Given the description of an element on the screen output the (x, y) to click on. 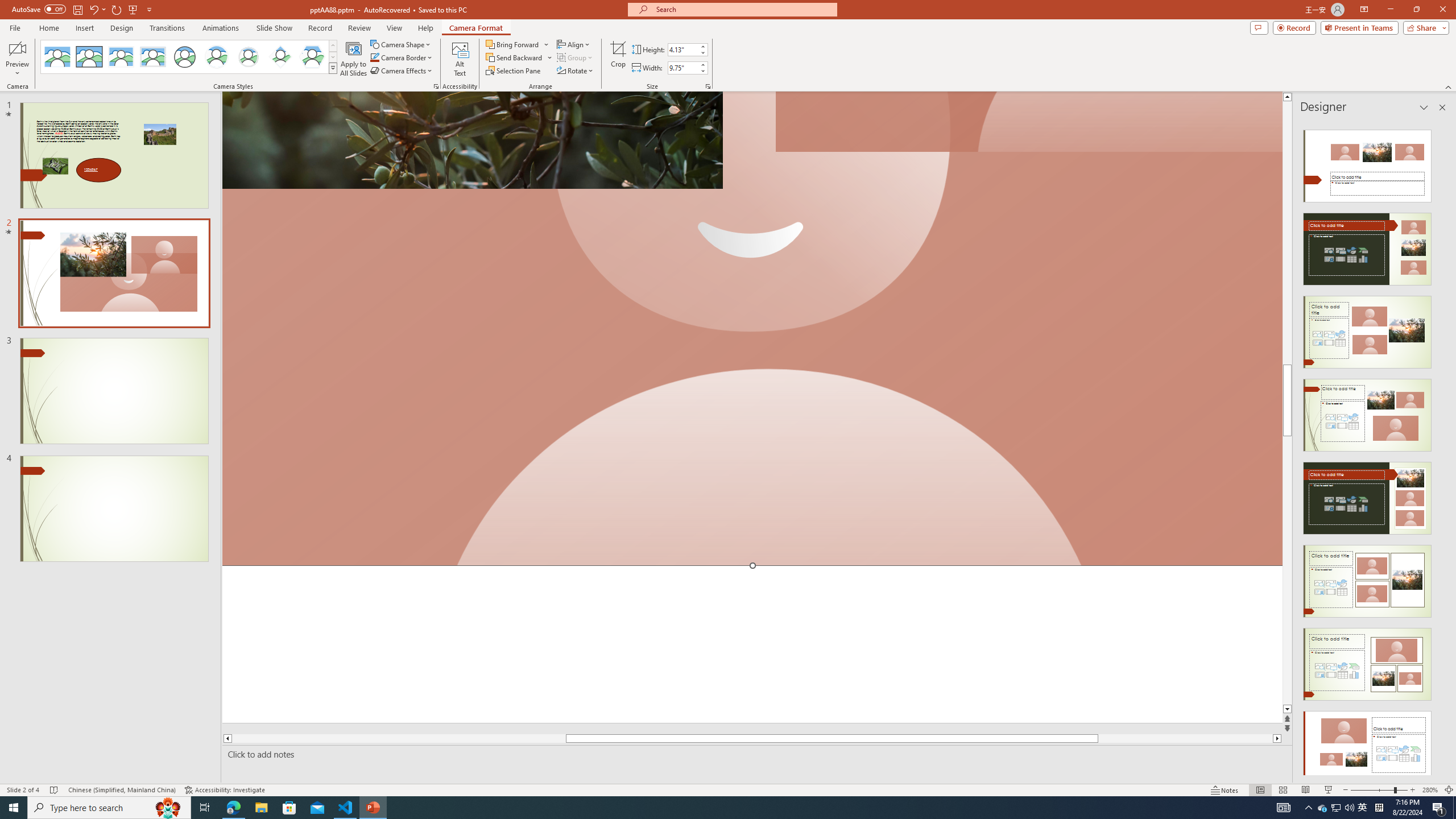
Send Backward (518, 56)
Camera Styles (333, 67)
Design Idea (1366, 743)
Cameo Height (682, 49)
Rotate (575, 69)
